Given the description of an element on the screen output the (x, y) to click on. 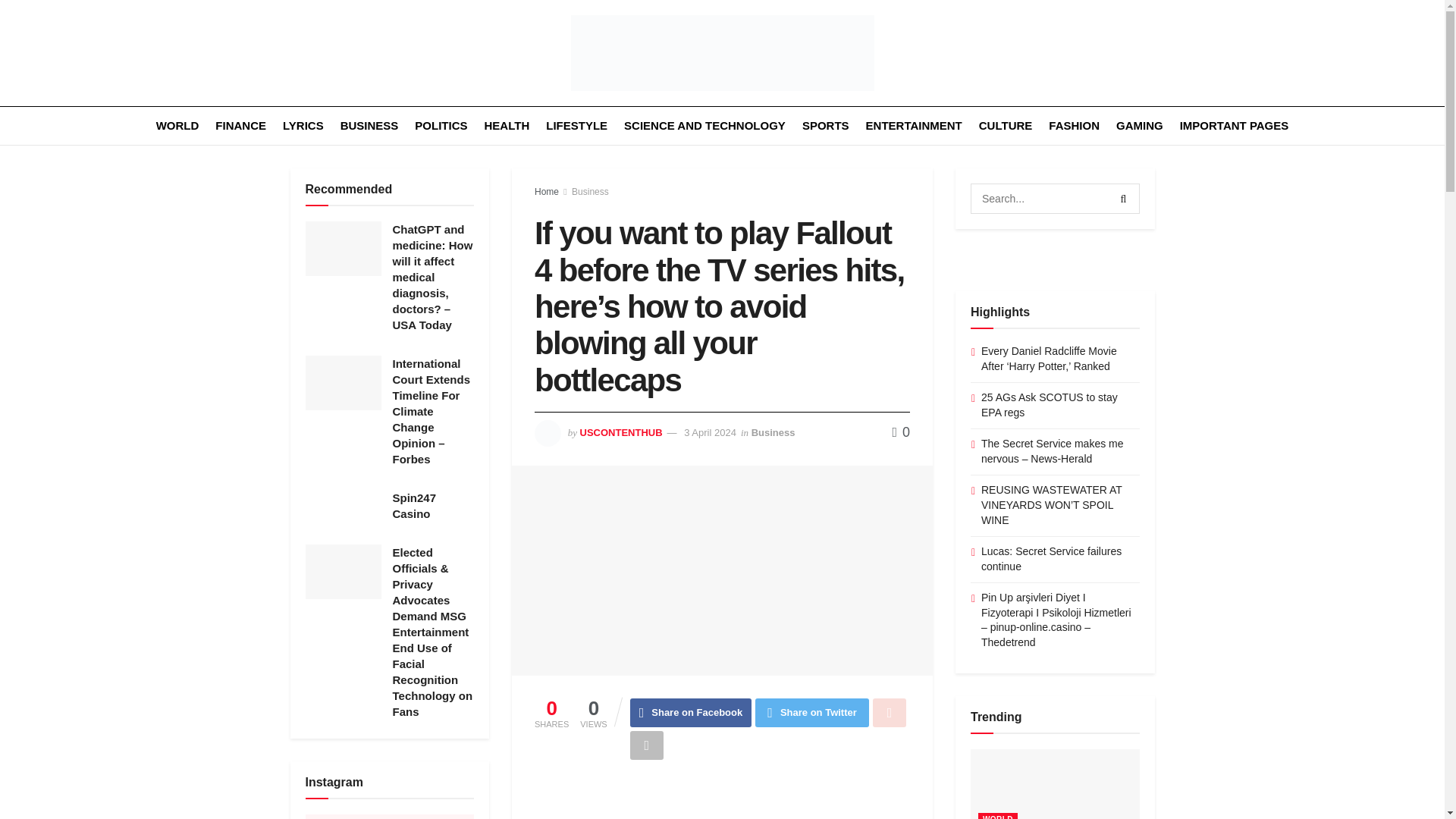
SPORTS (825, 125)
Home (546, 191)
LIFESTYLE (576, 125)
0 (900, 432)
GAMING (1139, 125)
SCIENCE AND TECHNOLOGY (705, 125)
WORLD (177, 125)
LYRICS (302, 125)
POLITICS (440, 125)
IMPORTANT PAGES (1233, 125)
